Given the description of an element on the screen output the (x, y) to click on. 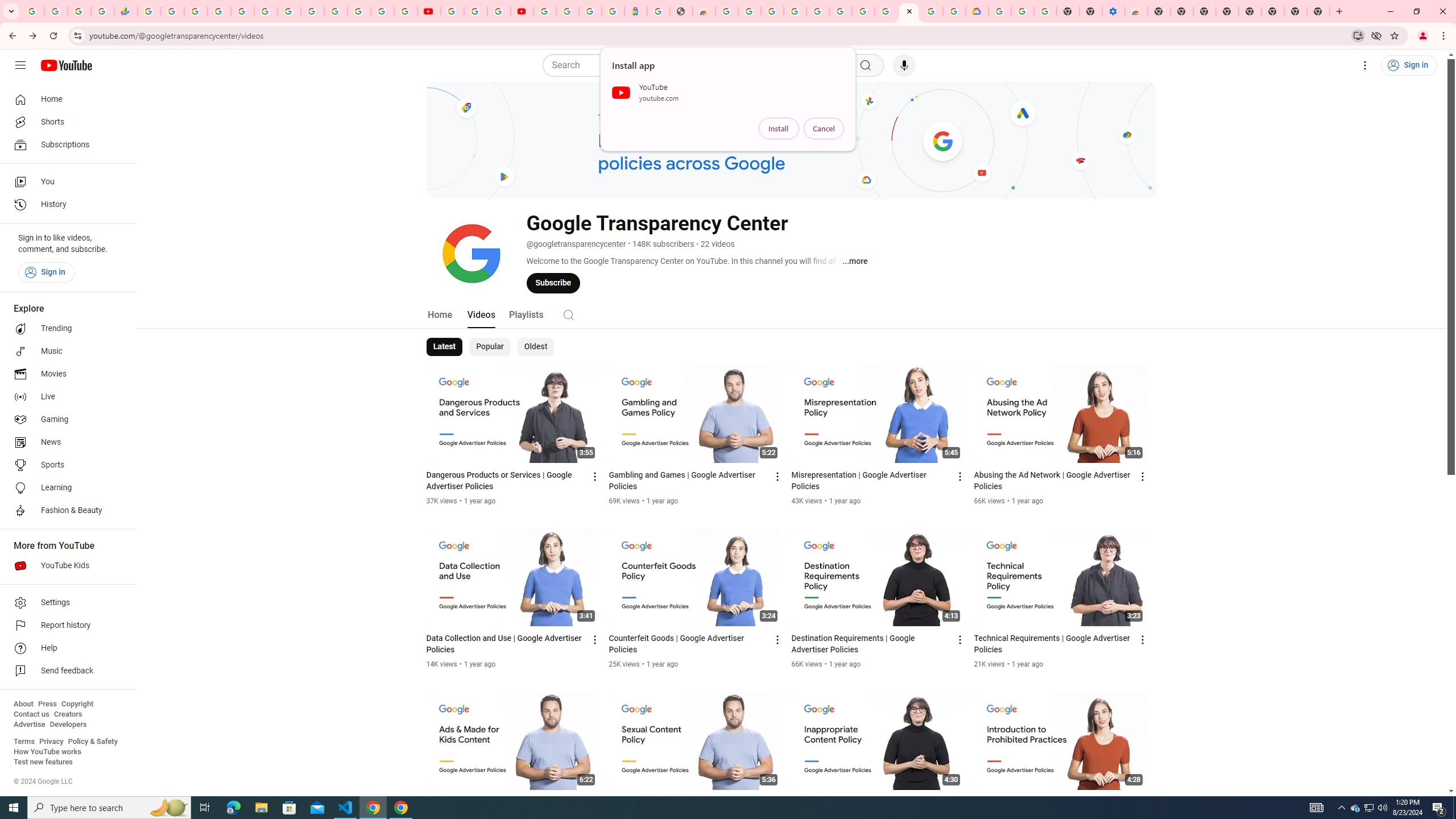
Browse the Google Chrome Community - Google Chrome Community (954, 11)
YouTube (312, 11)
Create your Google Account (749, 11)
Popular (489, 346)
YouTube (451, 11)
Copyright (77, 703)
